Given the description of an element on the screen output the (x, y) to click on. 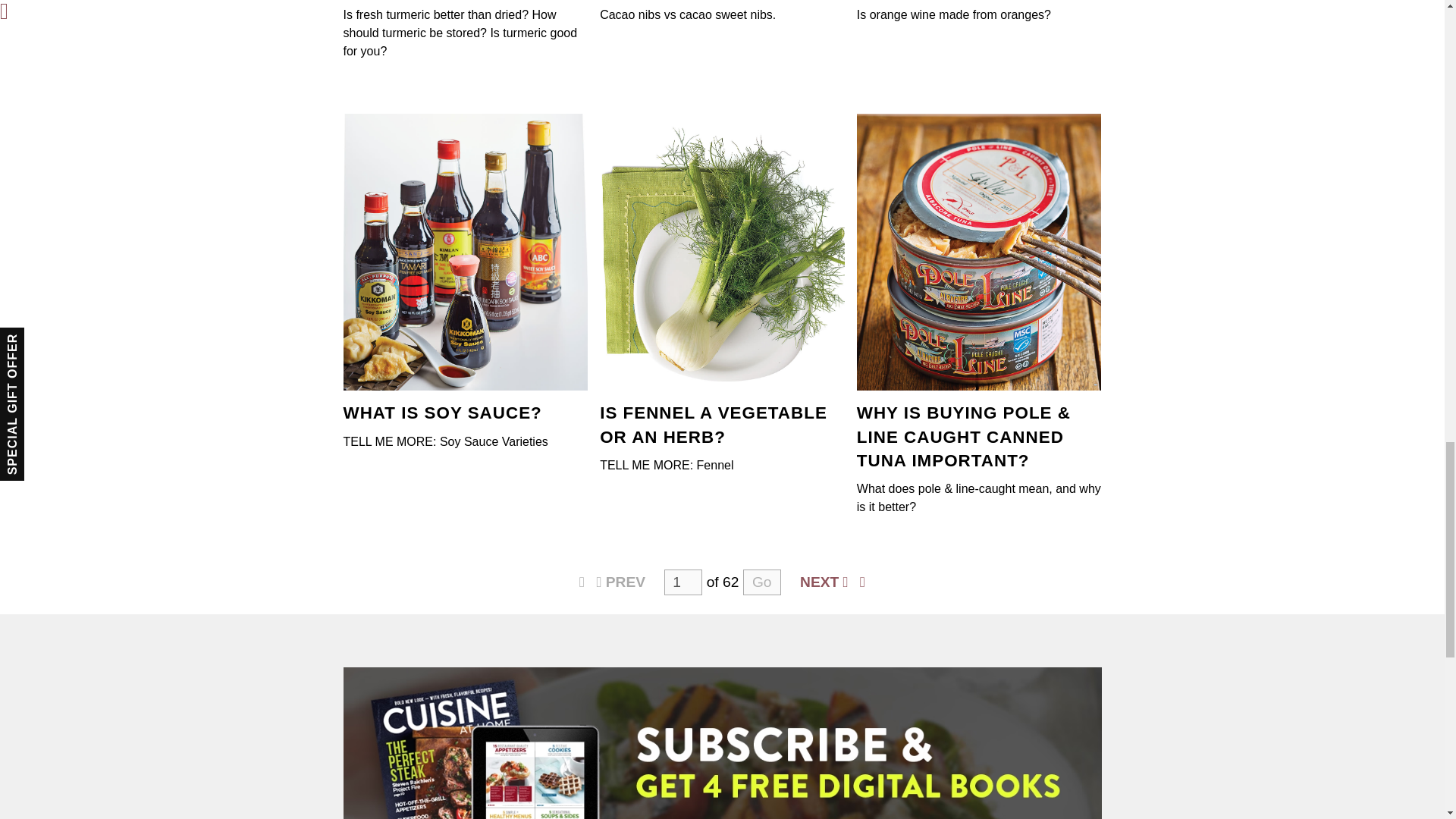
Go (761, 582)
1 (682, 582)
